Given the description of an element on the screen output the (x, y) to click on. 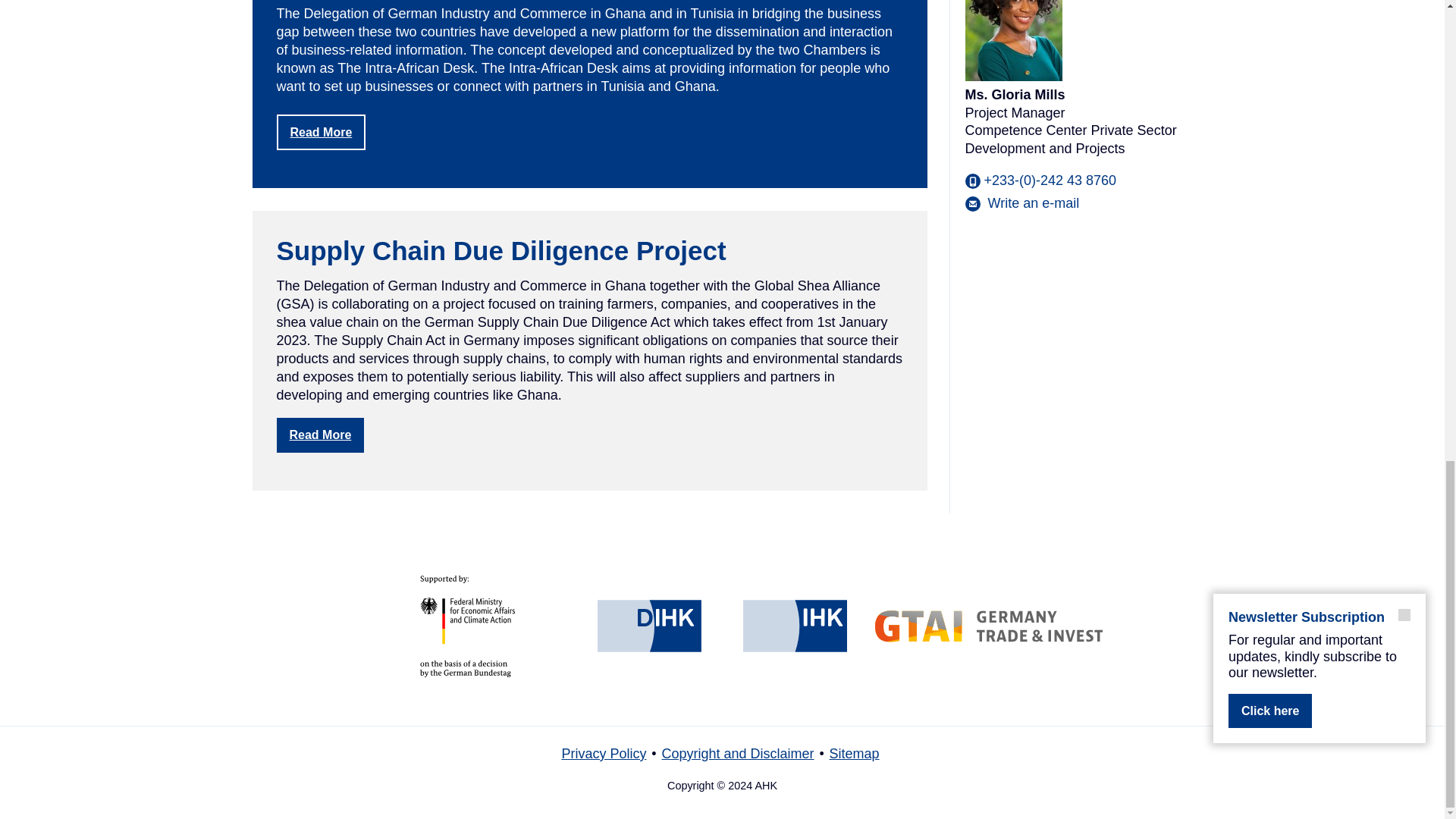
Ms. Gloria Mills (1012, 40)
Privacy Policy (603, 753)
Copyright and Disclaimer (737, 753)
Footer (721, 760)
Sitemap (854, 753)
Ms.  Gloria Mills (1020, 203)
